Given the description of an element on the screen output the (x, y) to click on. 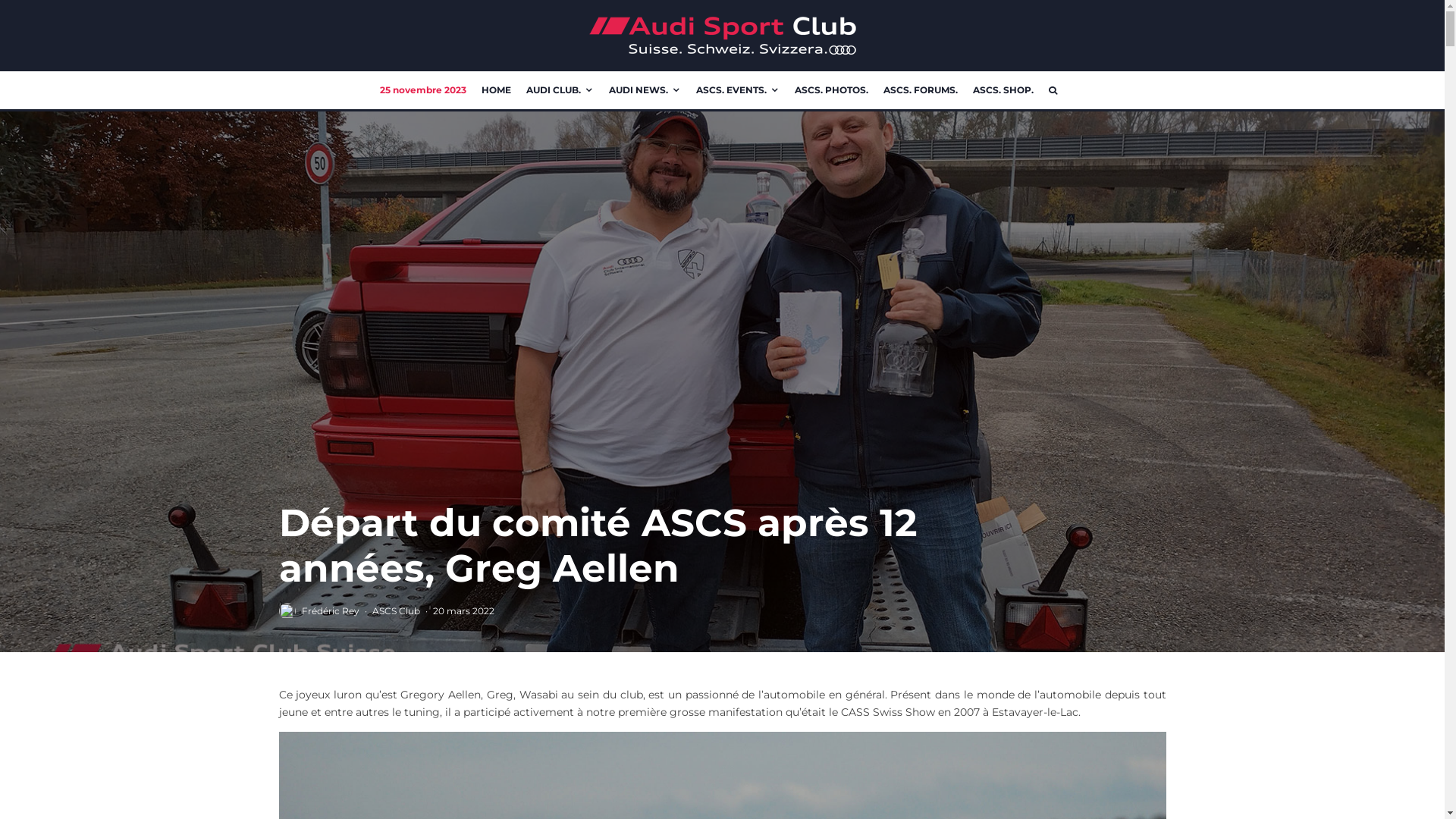
AUDI NEWS. Element type: text (644, 90)
ASCS. PHOTOS. Element type: text (831, 90)
ASCS. SHOP. Element type: text (1003, 90)
ASCS Club Element type: text (395, 610)
HOME Element type: text (495, 90)
AUDI CLUB. Element type: text (559, 90)
ASCS. EVENTS. Element type: text (737, 90)
ASCS. FORUMS. Element type: text (920, 90)
